Given the description of an element on the screen output the (x, y) to click on. 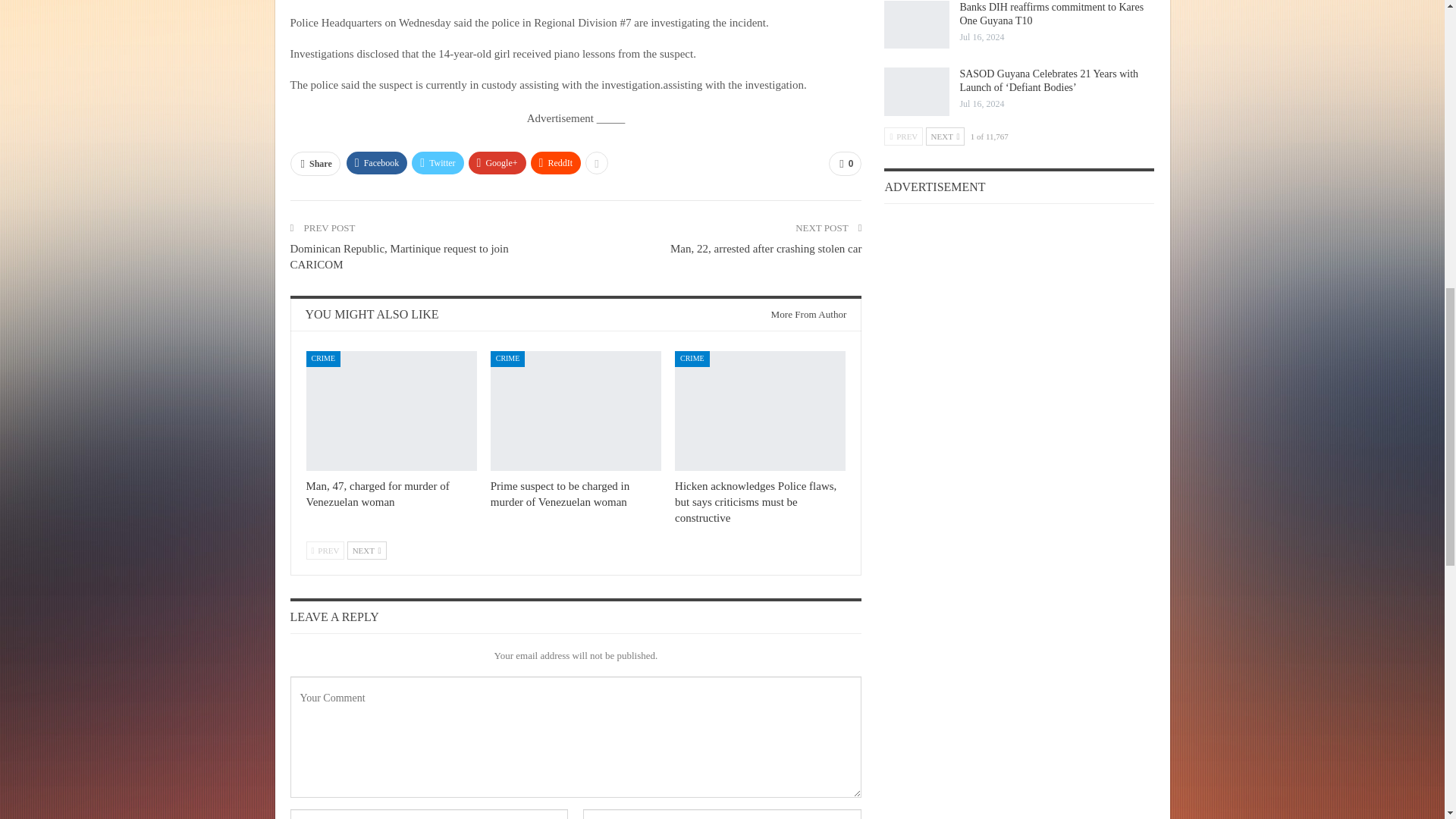
Man, 47, charged for murder of Venezuelan woman (377, 493)
Prime suspect to be charged in murder of Venezuelan woman (559, 493)
Prime suspect to be charged in murder of Venezuelan woman (575, 410)
Man, 47, charged for murder of Venezuelan woman (391, 410)
